Given the description of an element on the screen output the (x, y) to click on. 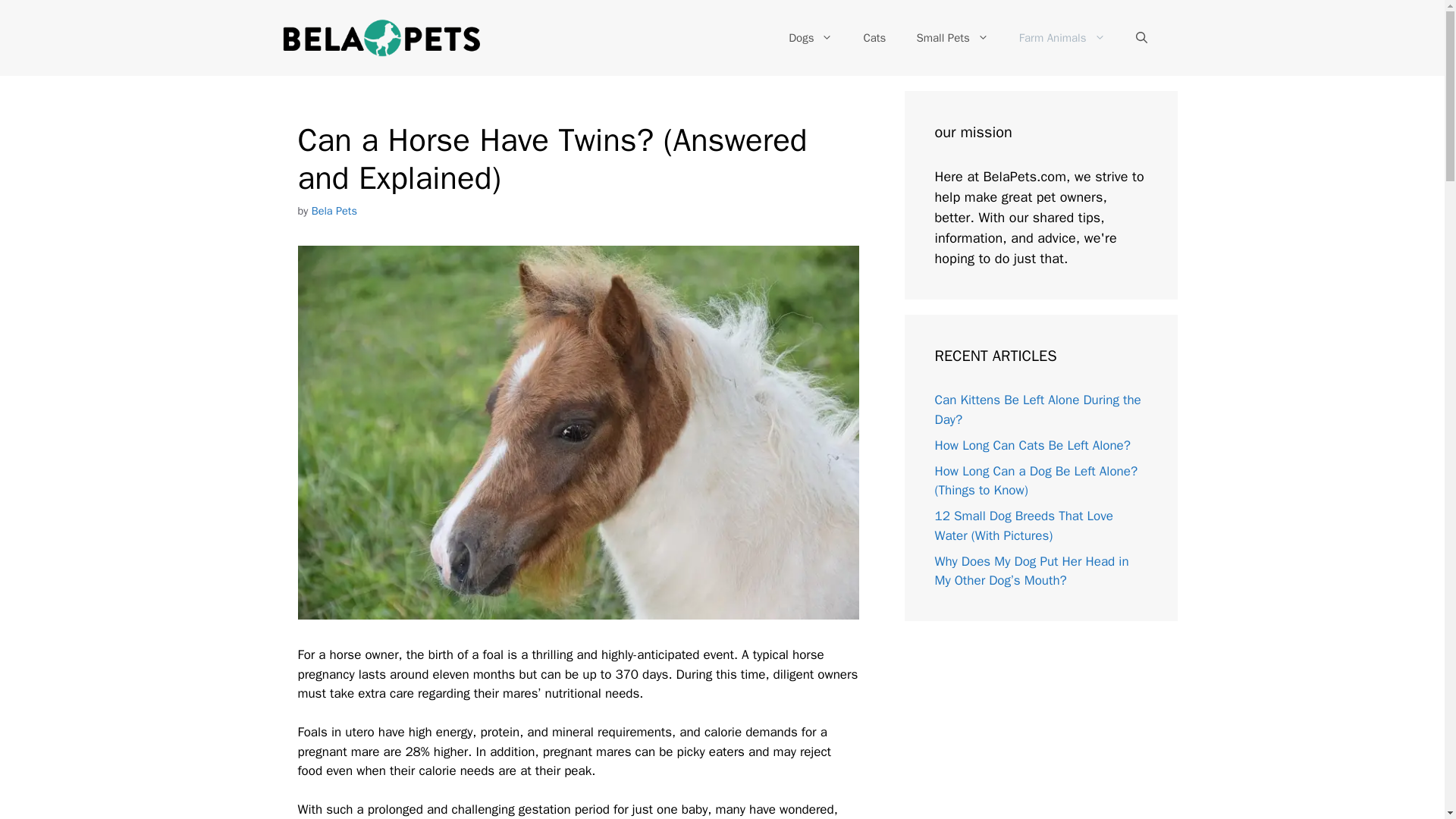
Bela Pets (333, 210)
Small Pets (952, 37)
Farm Animals (1062, 37)
View all posts by Bela Pets (333, 210)
Cats (874, 37)
Dogs (810, 37)
